Given the description of an element on the screen output the (x, y) to click on. 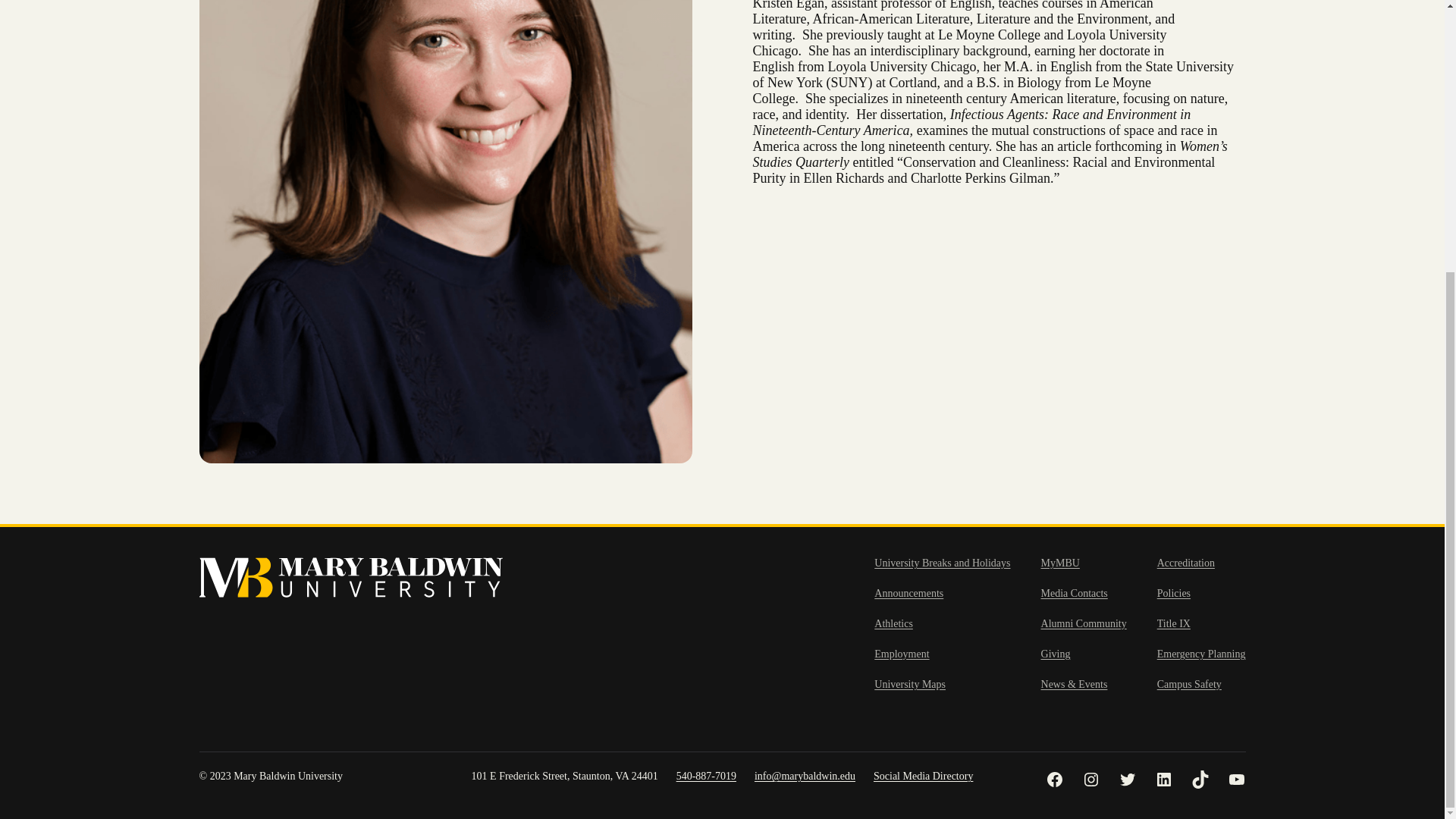
Alumni Community (1083, 623)
Athletics (893, 623)
University Maps (909, 684)
MyMBU (1060, 563)
University Breaks and Holidays (942, 563)
Accreditation (1185, 563)
Employment (901, 654)
Media Contacts (1074, 593)
Announcements (909, 593)
Giving (1055, 654)
